Given the description of an element on the screen output the (x, y) to click on. 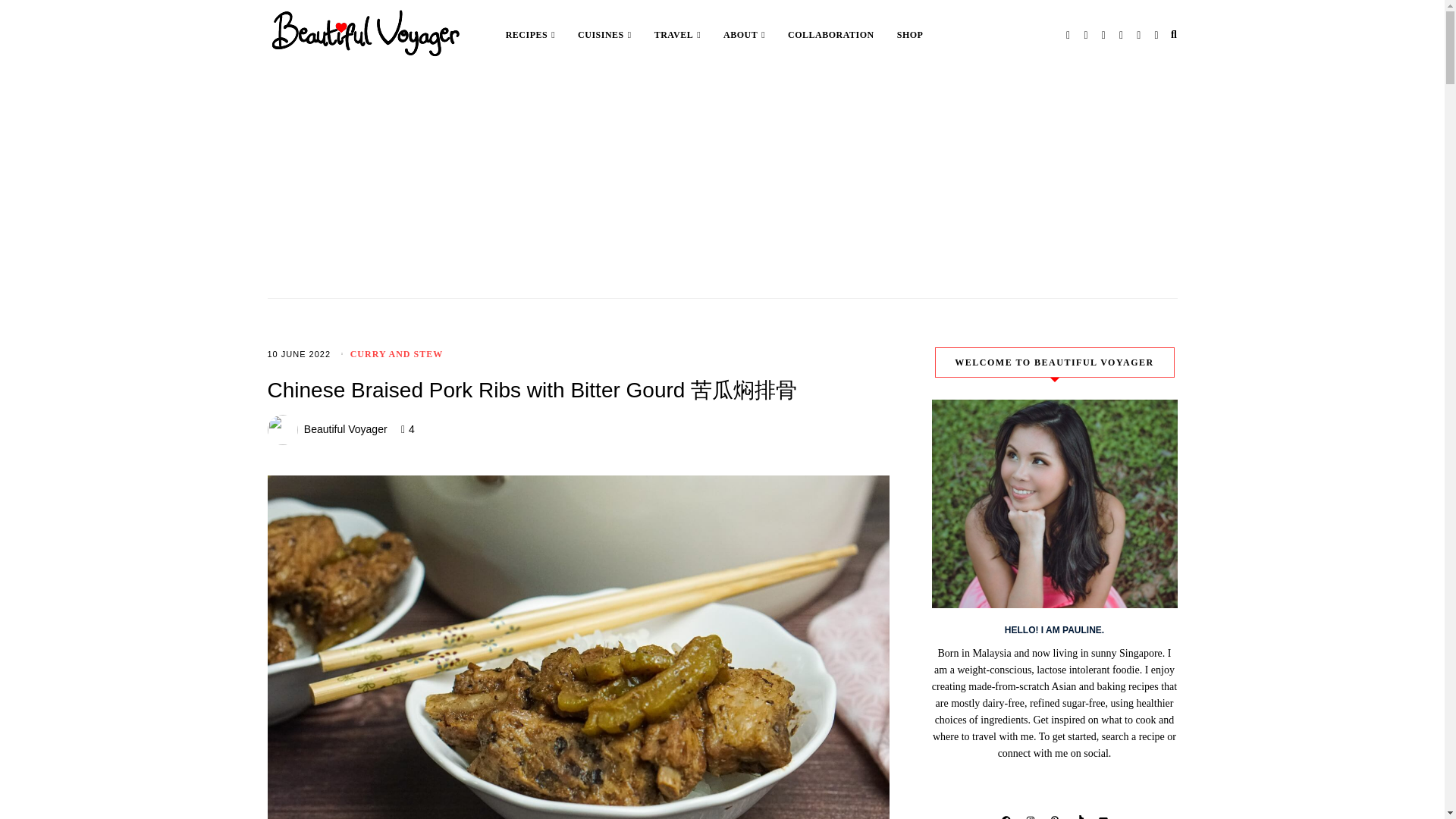
Posts by Beautiful Voyager (345, 428)
